Given the description of an element on the screen output the (x, y) to click on. 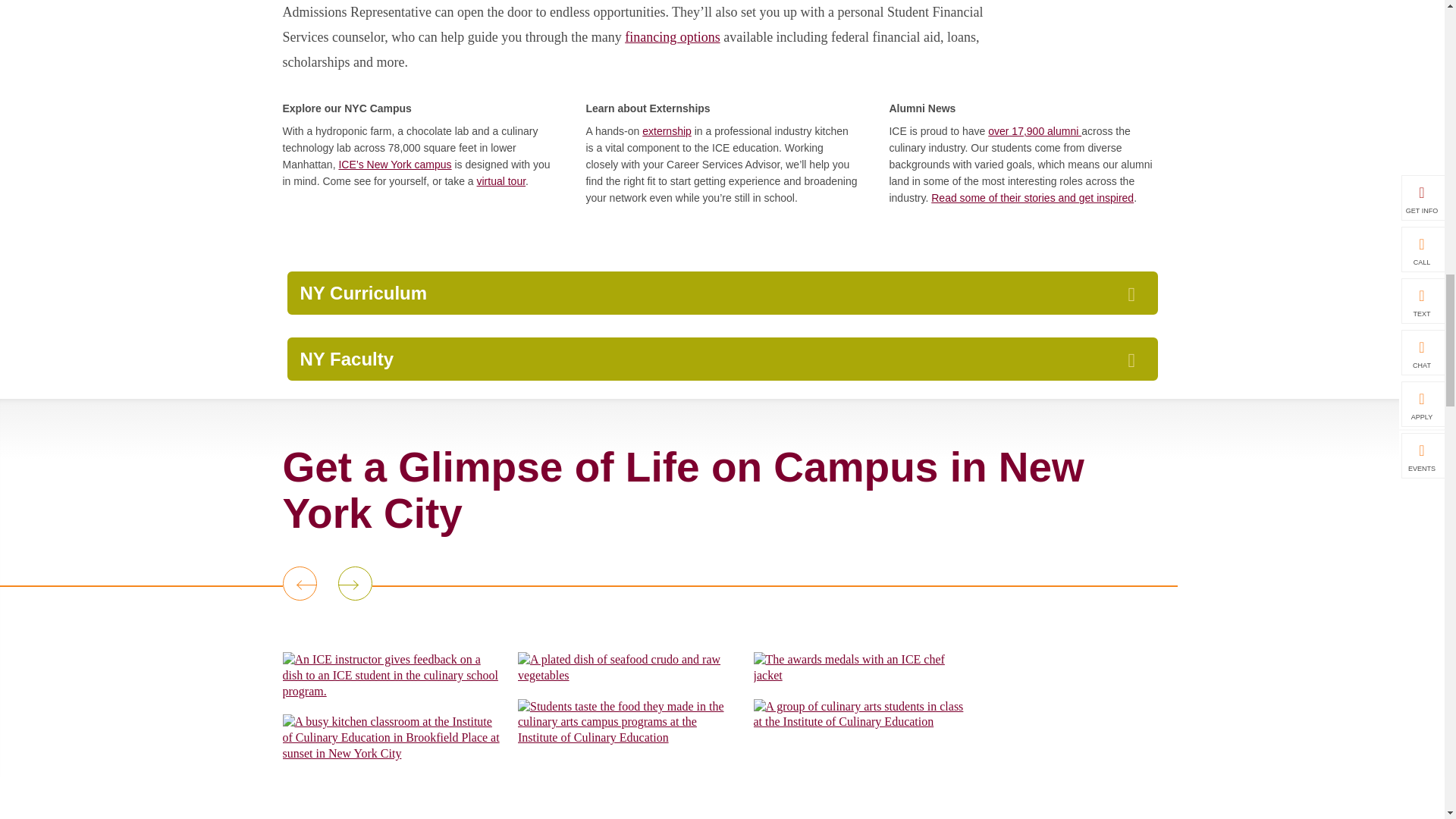
Alumni profiles (1034, 131)
